Given the description of an element on the screen output the (x, y) to click on. 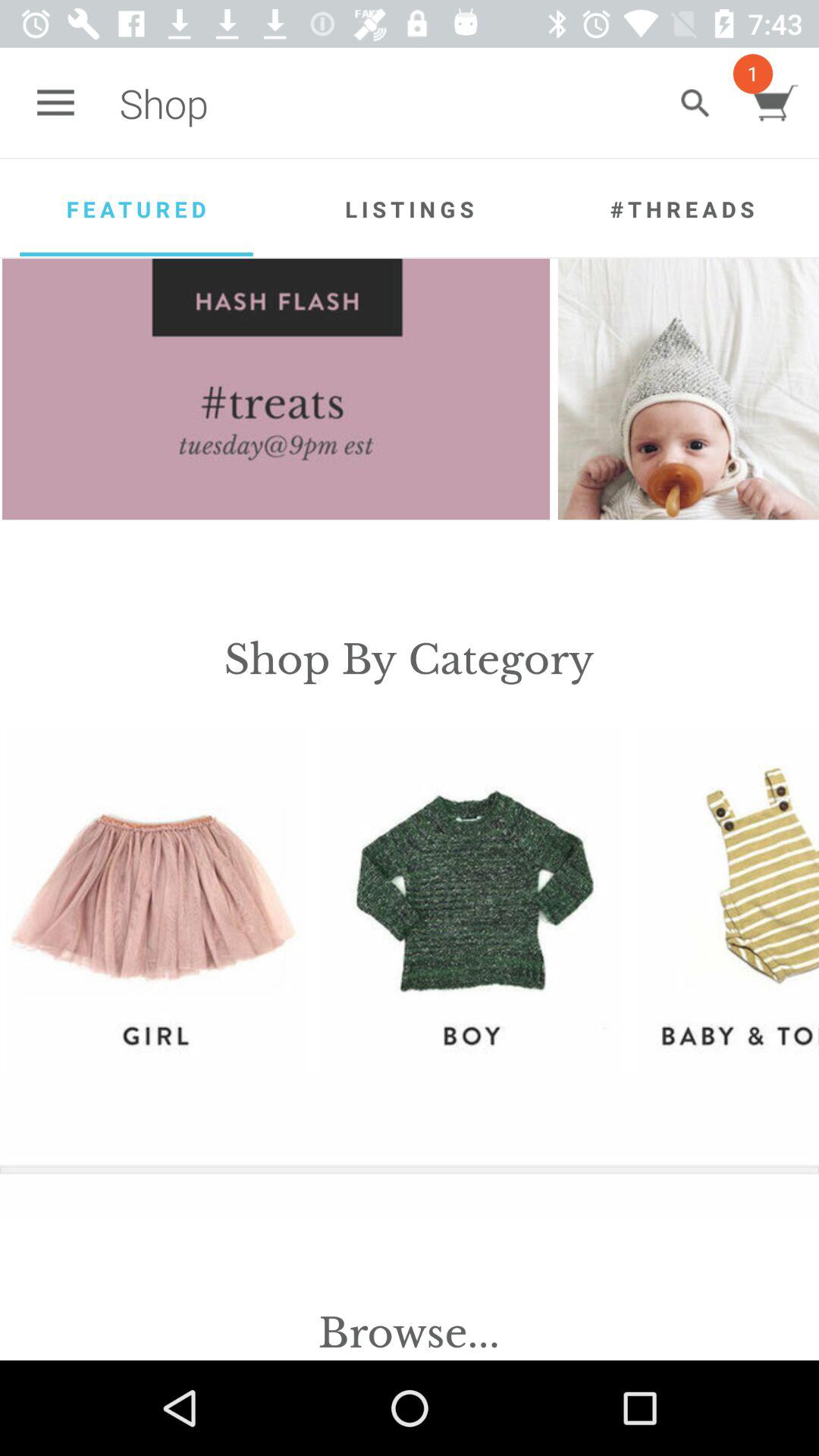
view baby toddler selections (727, 899)
